Given the description of an element on the screen output the (x, y) to click on. 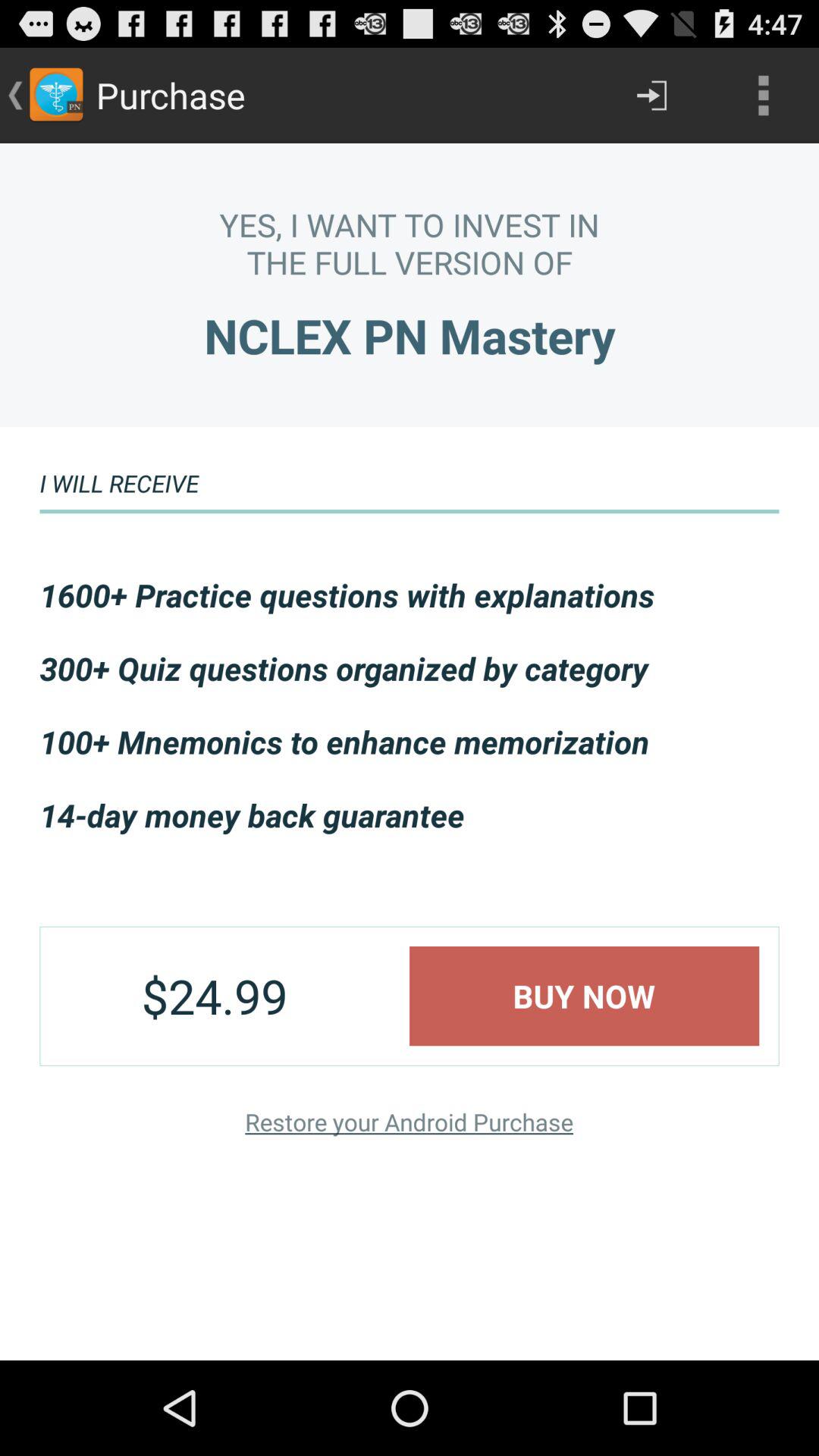
tap the app above the yes i want icon (763, 95)
